Given the description of an element on the screen output the (x, y) to click on. 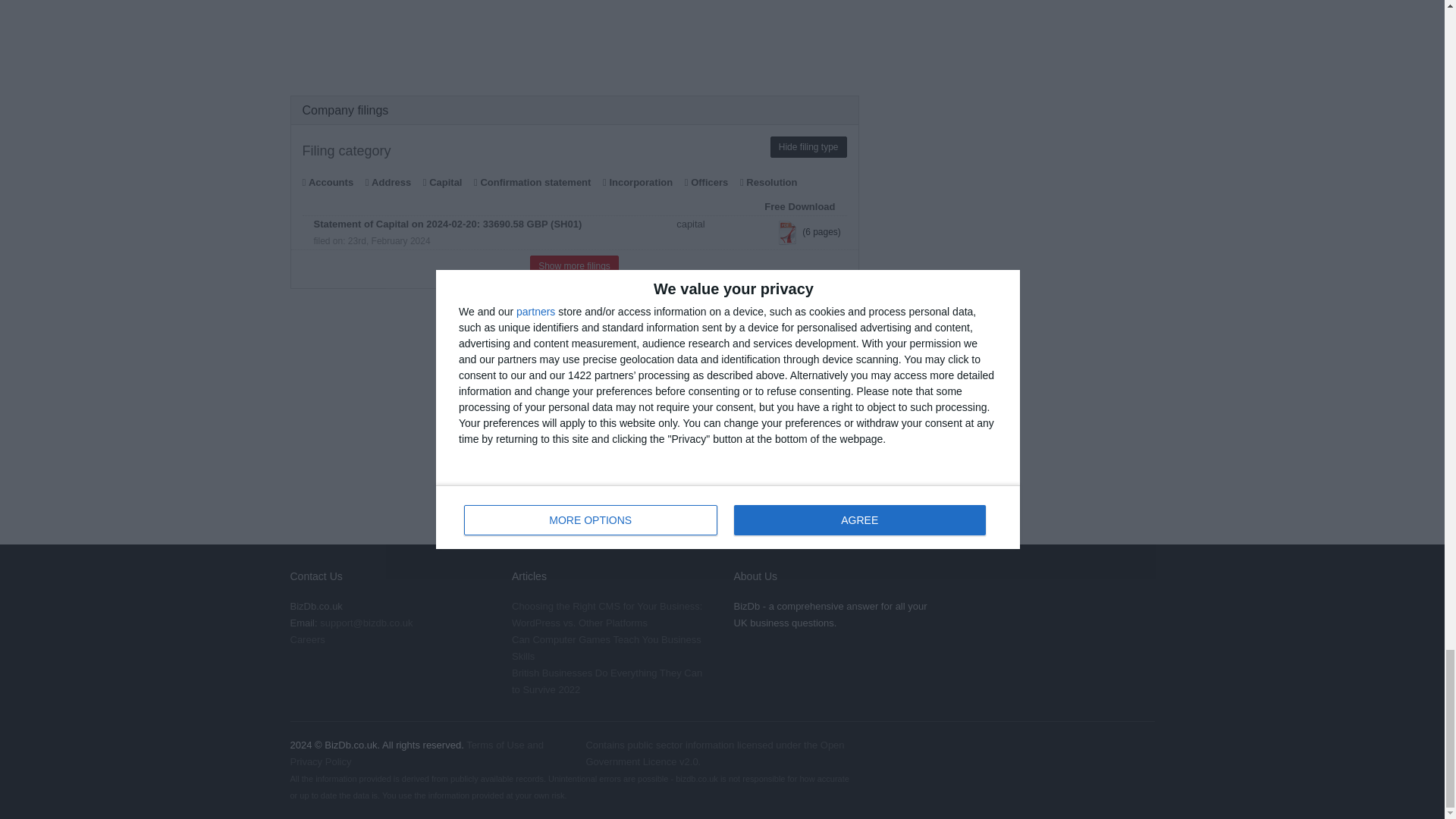
Show more filings (573, 265)
